Given the description of an element on the screen output the (x, y) to click on. 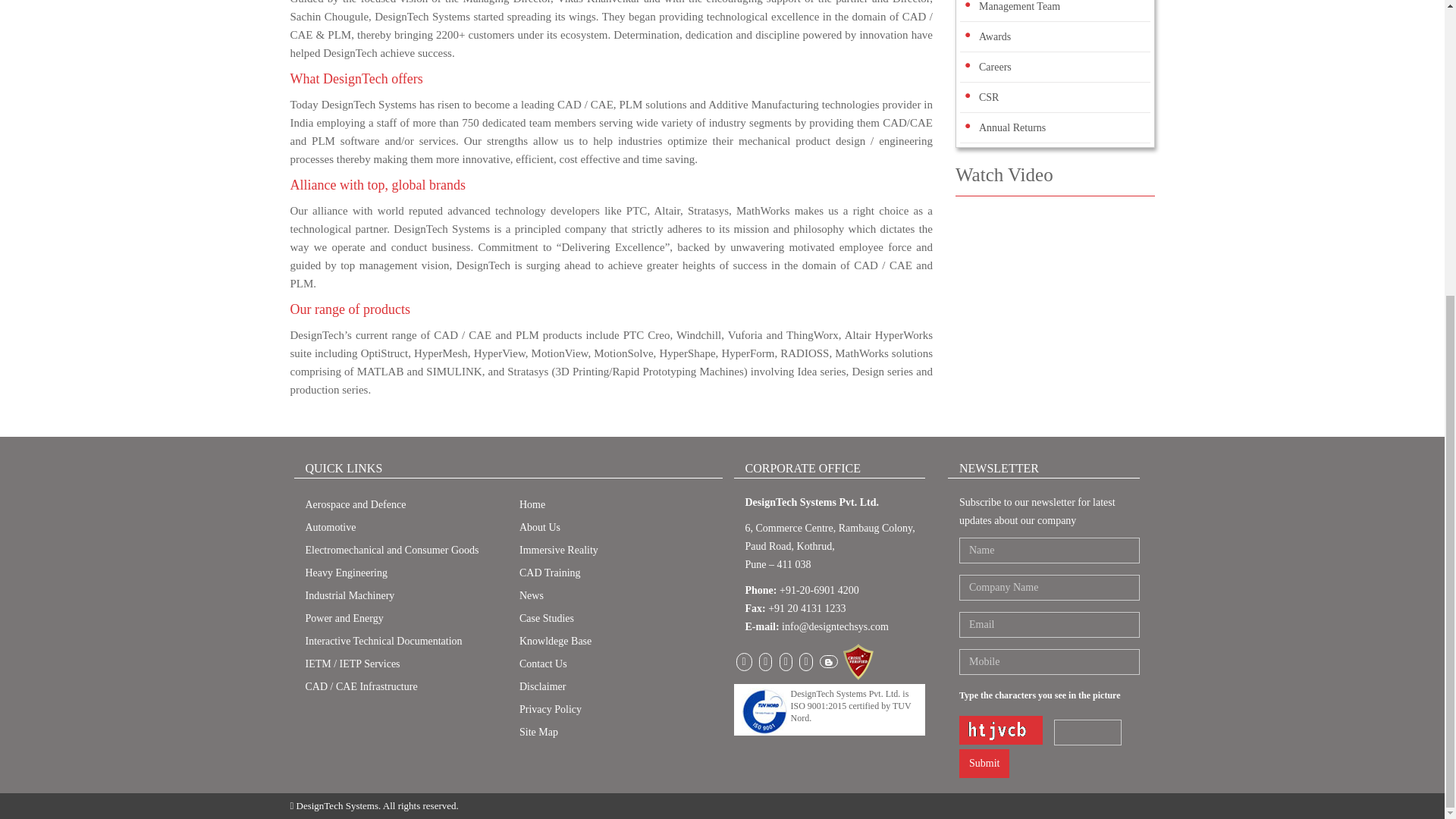
Management Team (1018, 6)
Awards (994, 36)
CSR (988, 97)
Careers (994, 66)
